Given the description of an element on the screen output the (x, y) to click on. 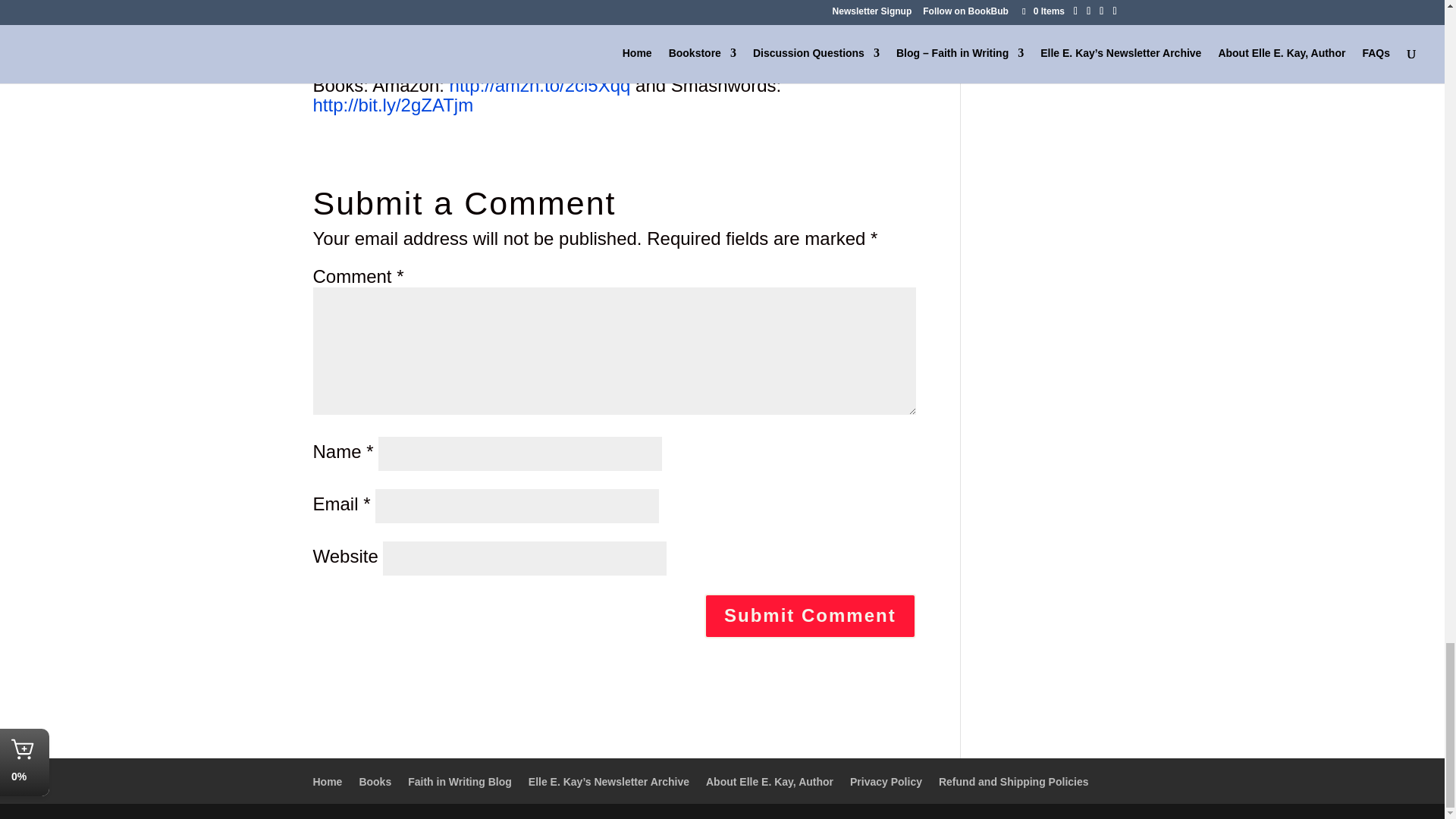
Submit Comment (809, 615)
